Given the description of an element on the screen output the (x, y) to click on. 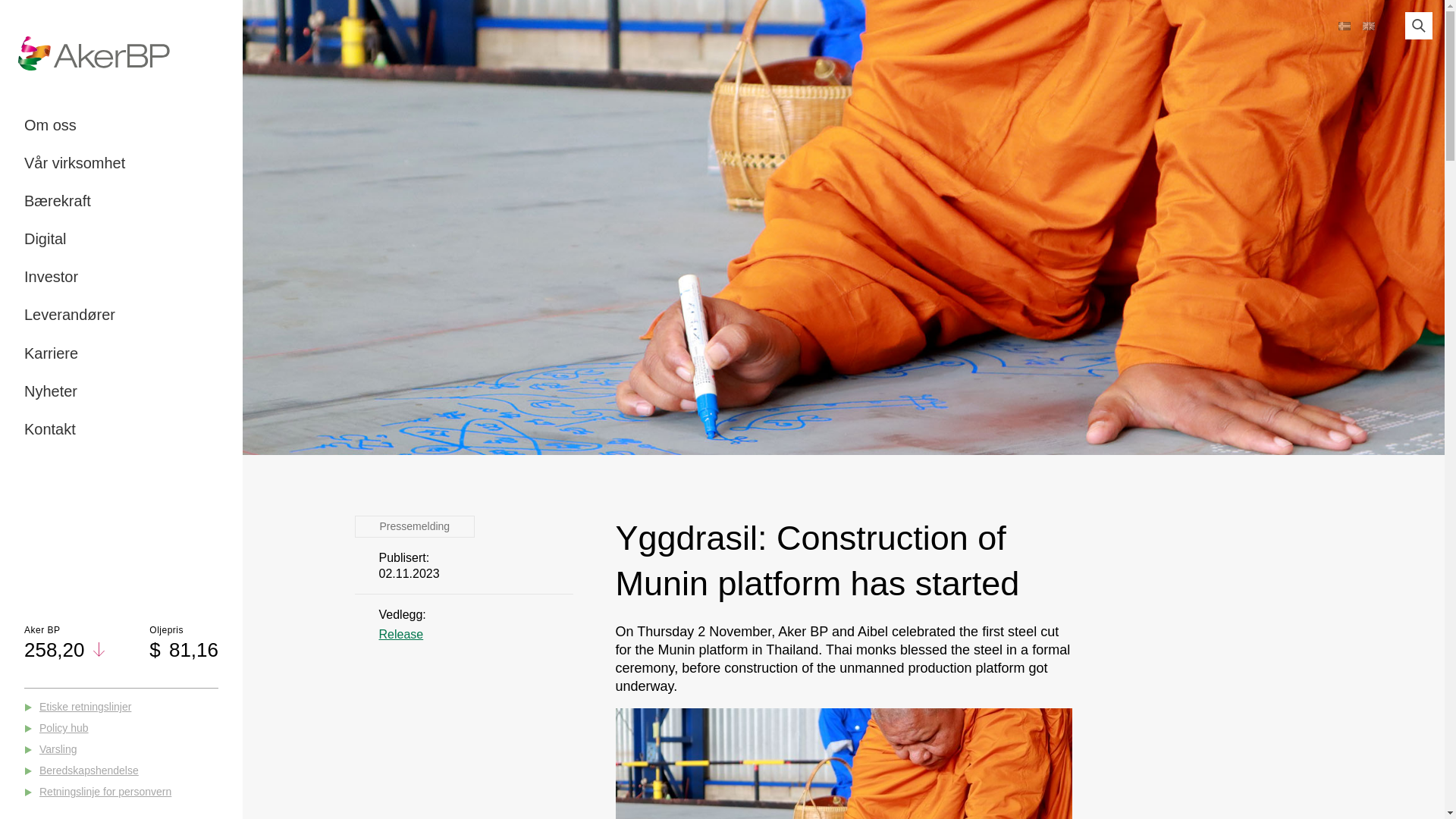
Digital (45, 238)
Hvem er vi (120, 124)
Etikk (120, 295)
Strategi (120, 329)
Program for konsekvensutredninger (120, 304)
Hovedledelsen (120, 192)
Om oss (50, 125)
Styret (120, 158)
Investor (51, 276)
Allianser (120, 363)
Verdier (120, 261)
